Given the description of an element on the screen output the (x, y) to click on. 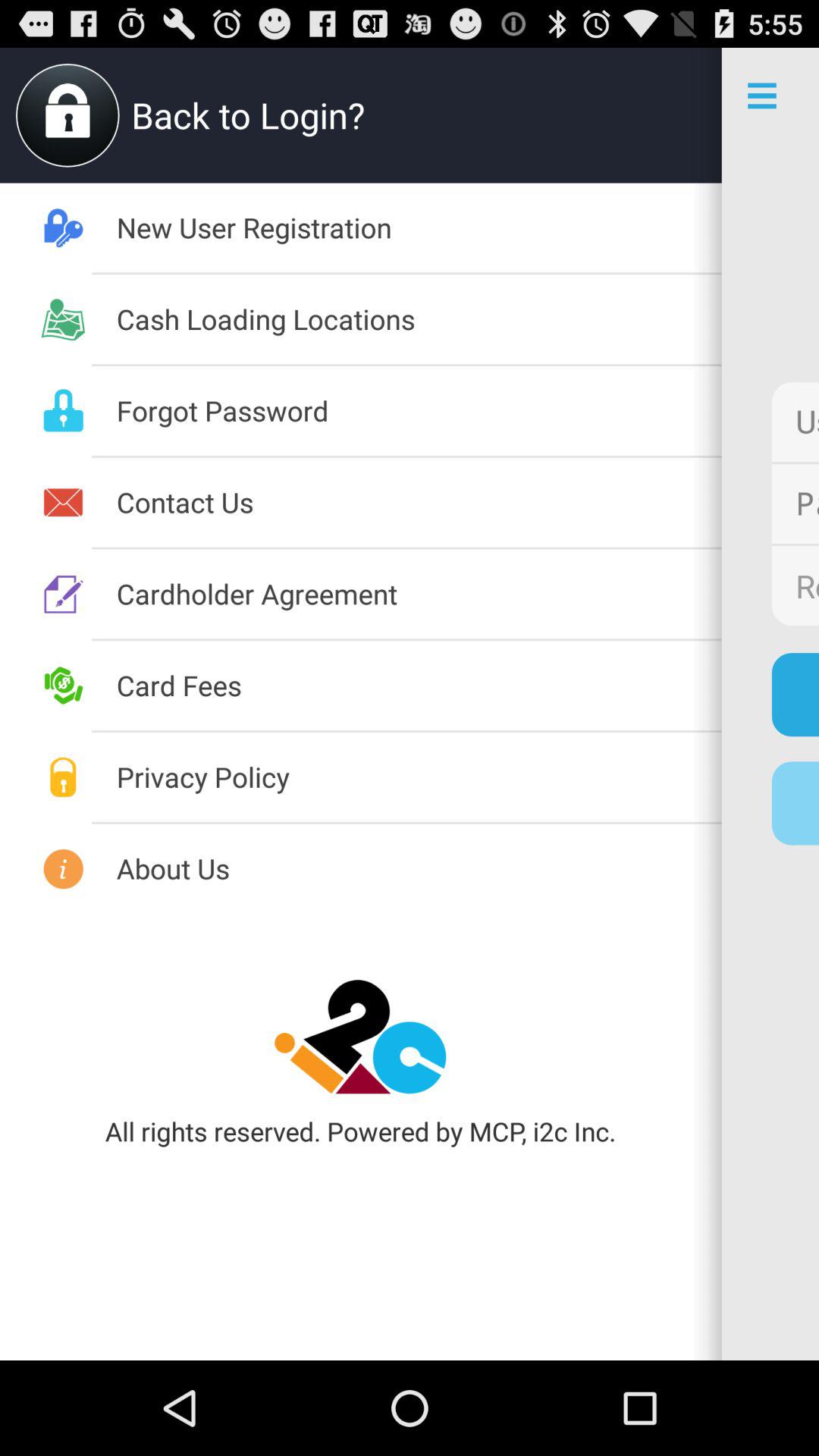
launch the item to the left of new user registration (418, 868)
